Given the description of an element on the screen output the (x, y) to click on. 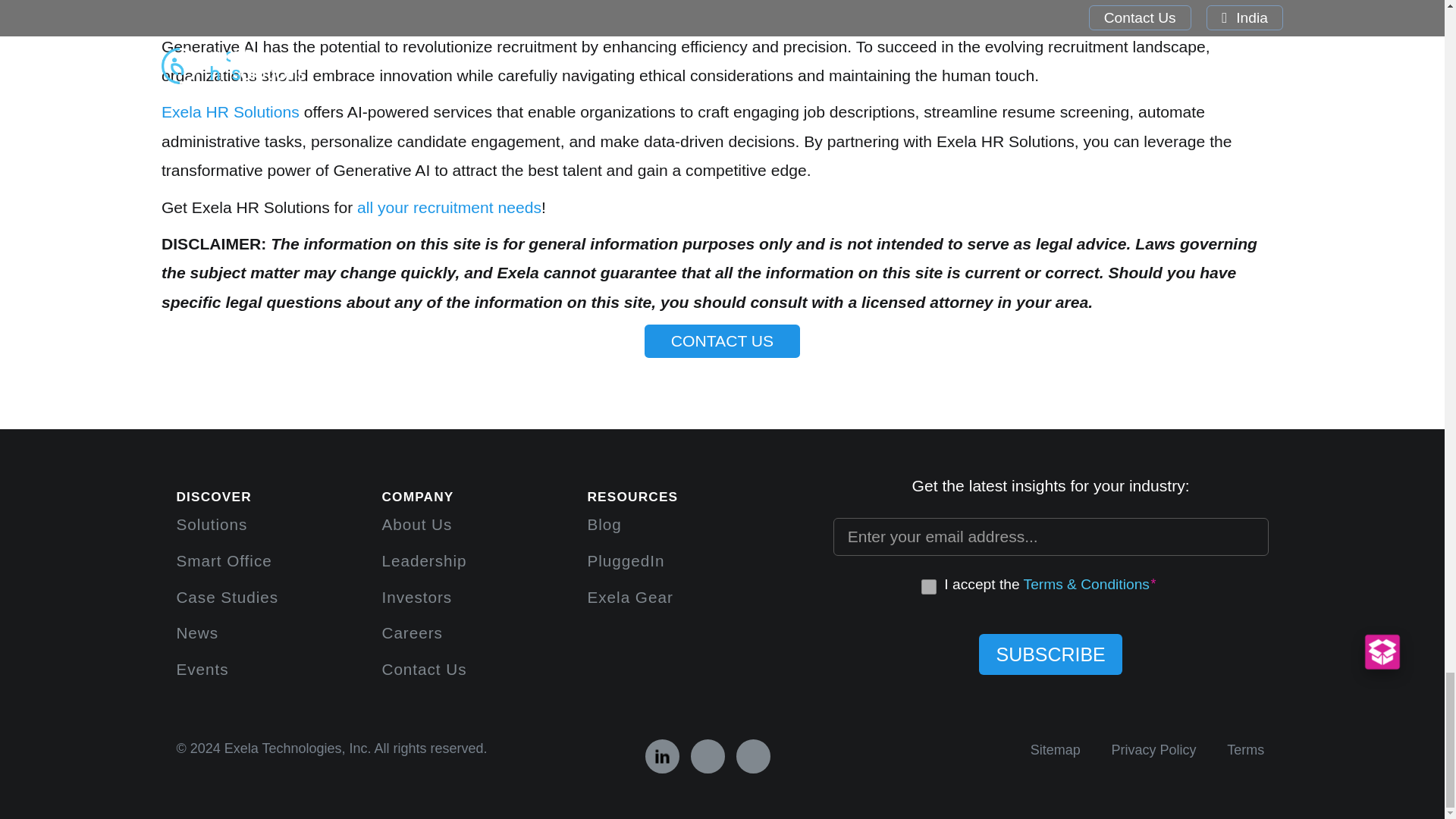
Leadership (423, 560)
Investors (416, 596)
Discover (416, 496)
About Us (416, 524)
Exela Gear (629, 596)
Case Studies (227, 596)
Linkedin (662, 756)
Blog (603, 524)
Contact Us (423, 669)
Discover (632, 496)
